Given the description of an element on the screen output the (x, y) to click on. 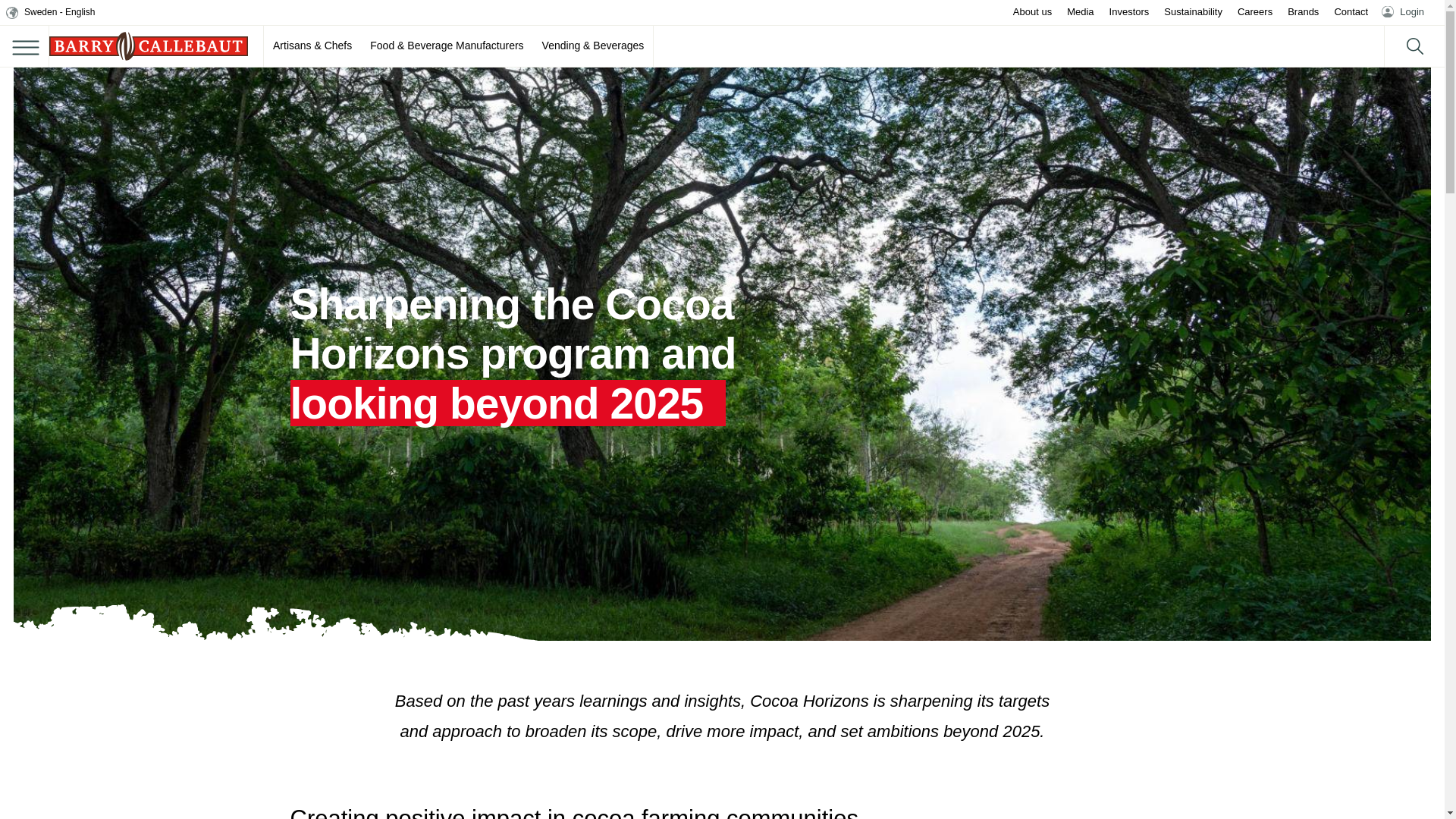
Skip to main content (15, 16)
